Given the description of an element on the screen output the (x, y) to click on. 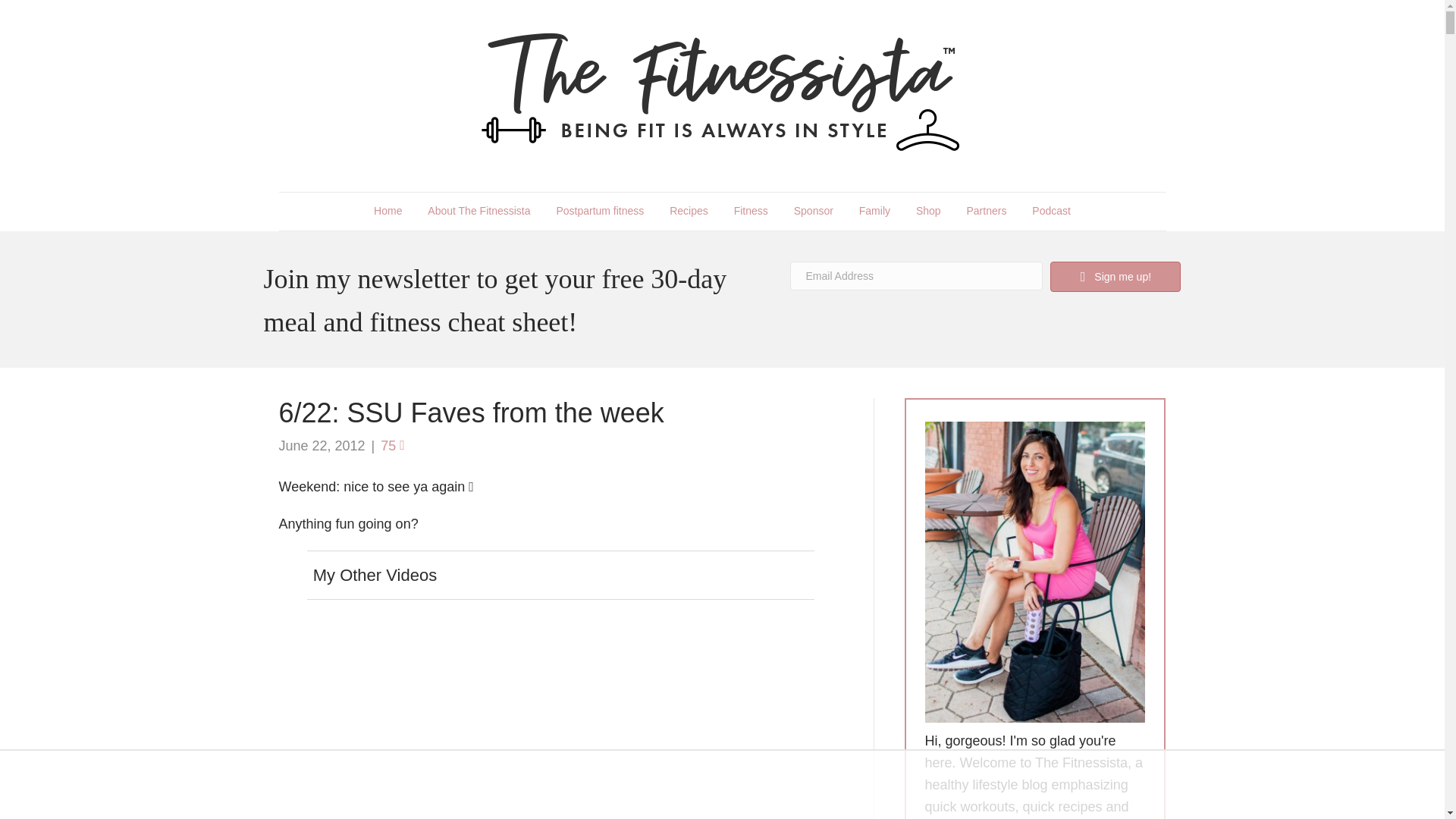
Home (387, 211)
